Given the description of an element on the screen output the (x, y) to click on. 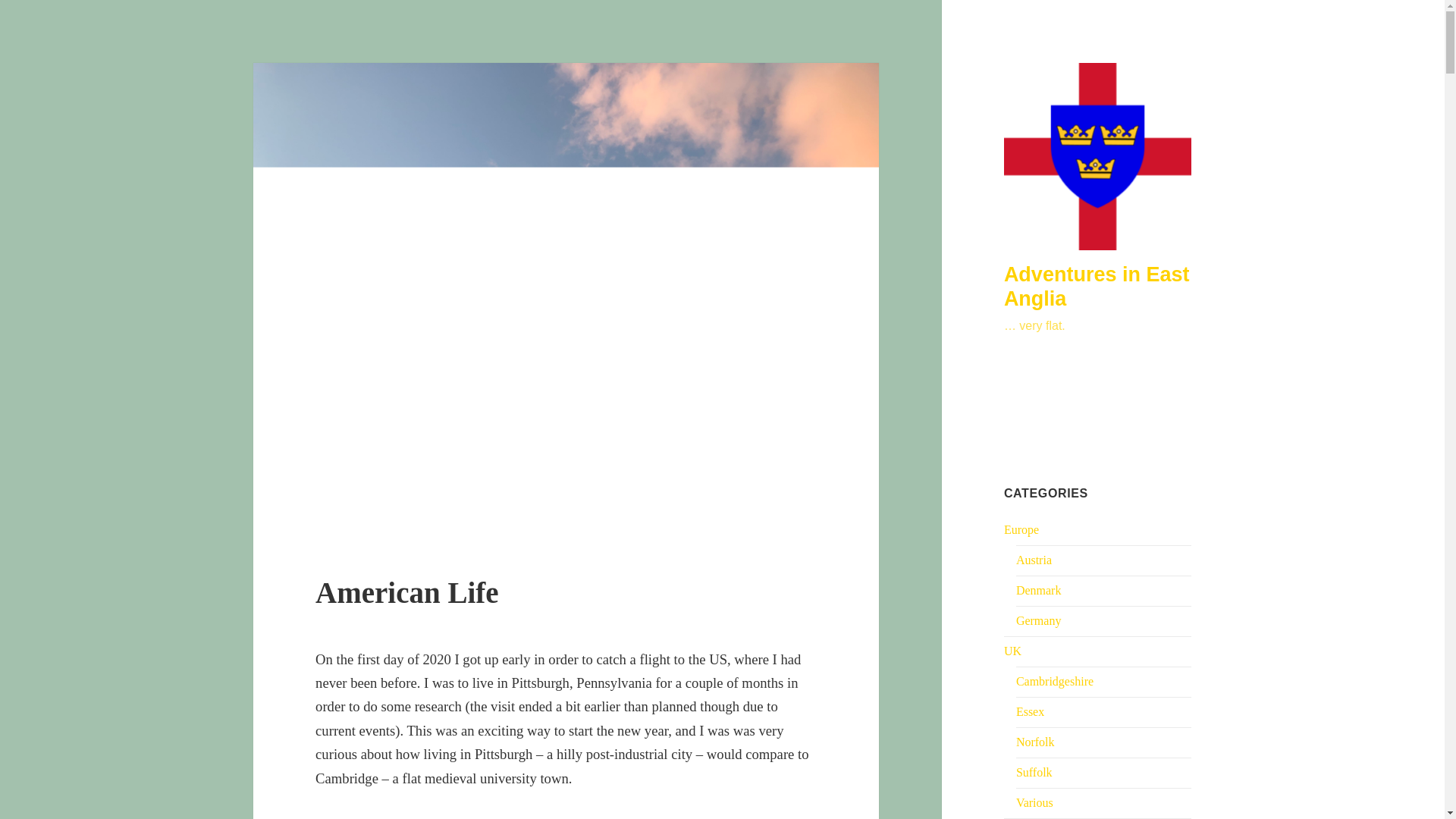
Adventures in East Anglia (1096, 286)
Norfolk (1035, 741)
Denmark (1038, 590)
Cambridgeshire (1054, 680)
Various (1034, 802)
Suffolk (1034, 771)
Germany (1038, 620)
Instagram (1015, 410)
Austria (1033, 559)
UK (1013, 650)
Email (1042, 410)
Essex (1029, 711)
Europe (1021, 529)
